Given the description of an element on the screen output the (x, y) to click on. 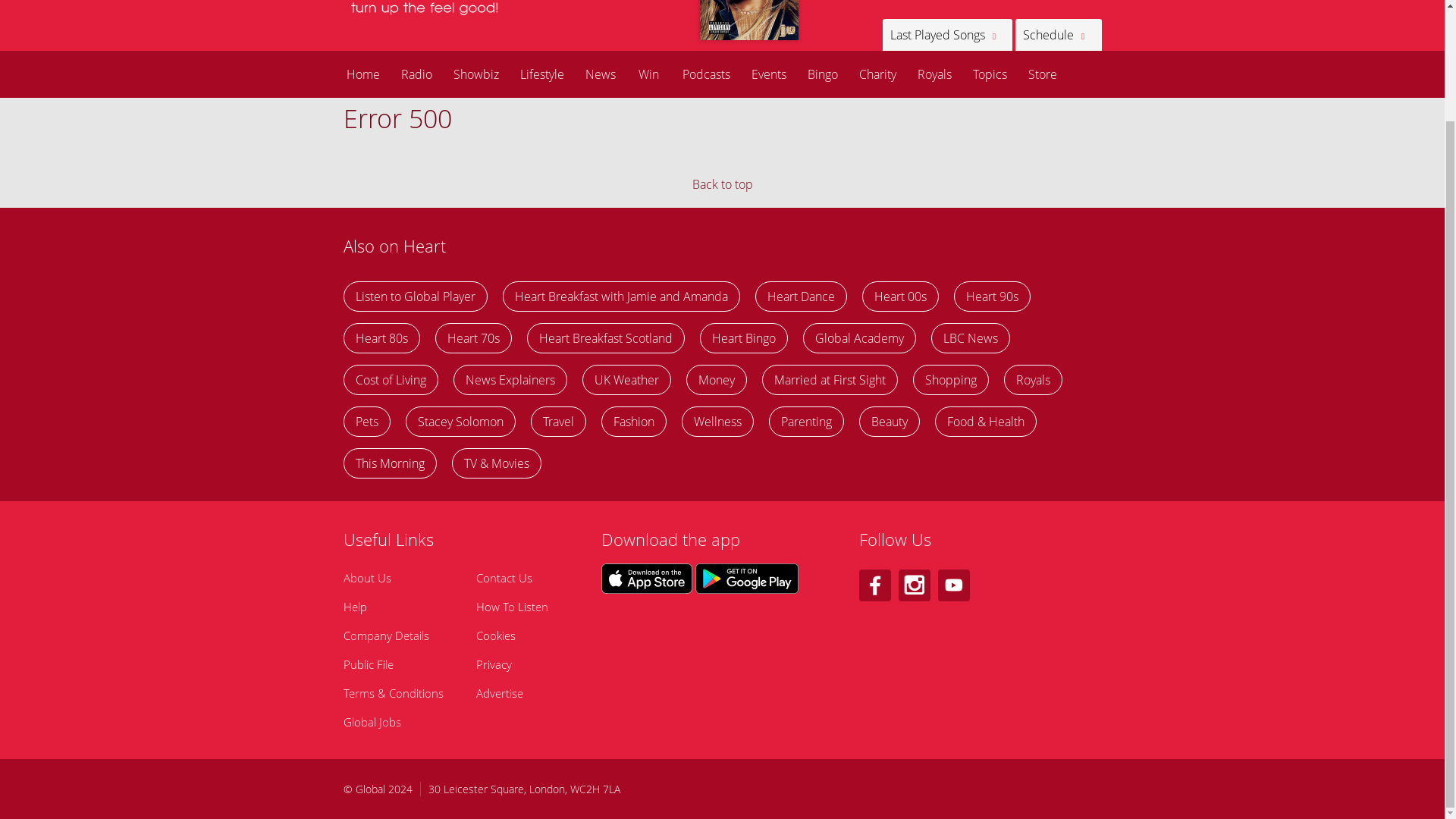
Win (648, 73)
Bingo (821, 73)
Store (1042, 73)
Heart 90s (991, 296)
Podcasts (706, 73)
Showbiz (475, 73)
Events (767, 73)
Topics (988, 73)
Back to top (721, 184)
Heart 70s (473, 337)
